Given the description of an element on the screen output the (x, y) to click on. 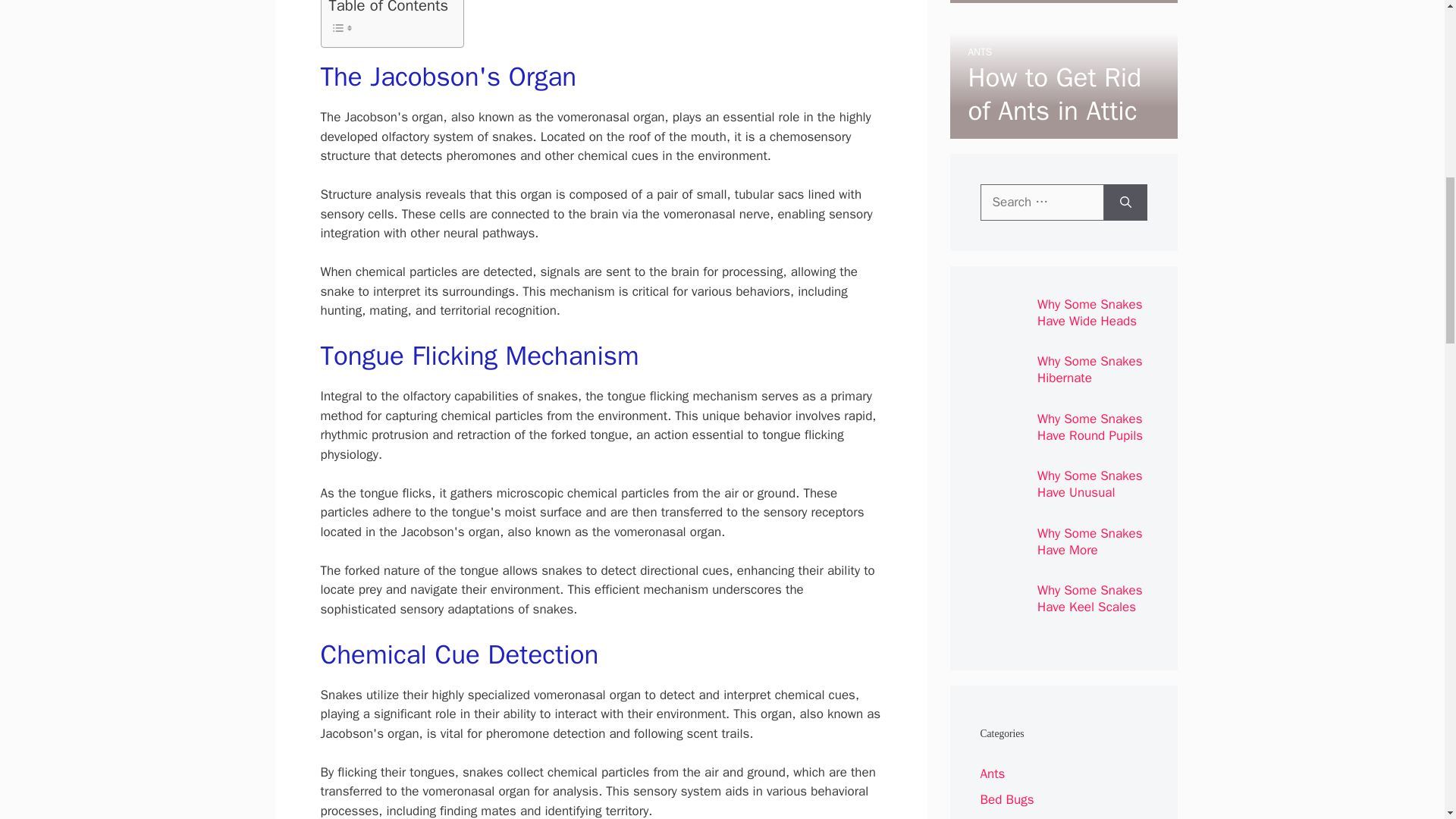
Why Some Snakes Have Wide Heads (1089, 312)
ANTS (979, 51)
Are There Certain Insecticides That Can Deter Snakes (1054, 46)
How to Get Rid of Ants in Attic (1054, 93)
Why Some Snakes Hibernate (1089, 368)
